Given the description of an element on the screen output the (x, y) to click on. 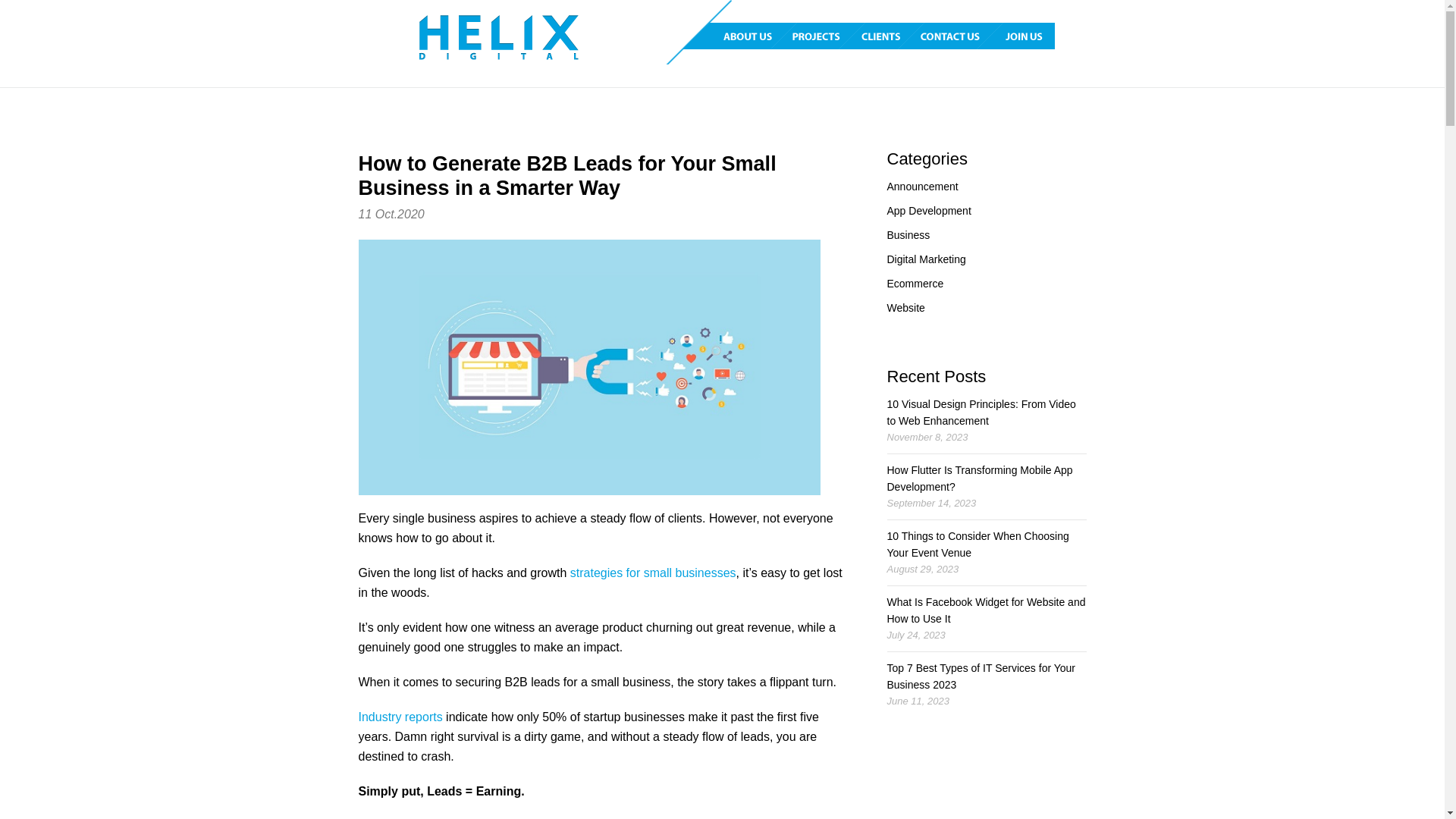
ABOUT US Element type: text (757, 36)
Ecommerce Element type: text (915, 283)
strategies for small businesses Element type: text (653, 572)
What Is Facebook Widget for Website and How to Use It Element type: text (986, 610)
Announcement Element type: text (922, 186)
10 Visual Design Principles: From Video to Web Enhancement Element type: text (981, 412)
JOIN US Element type: text (1028, 36)
How Flutter Is Transforming Mobile App Development? Element type: text (980, 478)
Digital Marketing Element type: text (926, 259)
Industry reports Element type: text (399, 716)
10 Things to Consider When Choosing Your Event Venue Element type: text (978, 544)
Helix Digital Element type: text (497, 37)
CLIENTS Element type: text (894, 36)
PROJECTS Element type: text (830, 36)
Website Element type: text (906, 307)
App Development Element type: text (929, 210)
CONTACT US Element type: text (963, 36)
Top 7 Best Types of IT Services for Your Business 2023 Element type: text (981, 676)
Business Element type: text (908, 235)
